Given the description of an element on the screen output the (x, y) to click on. 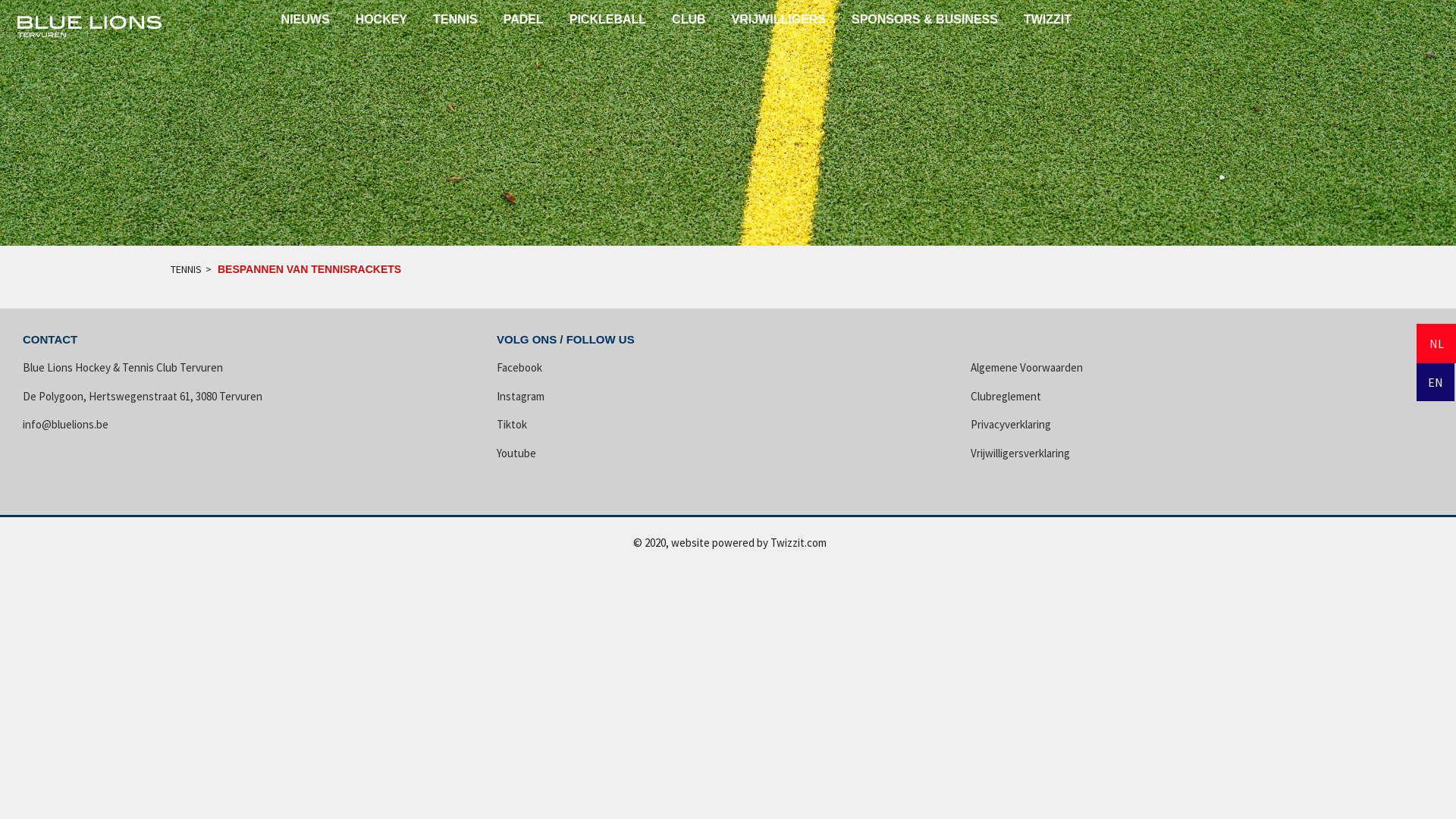
Twizzit.com Element type: text (798, 542)
Vrijwilligersverklaring Element type: text (1020, 452)
Youtube Element type: text (516, 452)
HOCKEY Element type: text (381, 19)
Algemene Voorwaarden Element type: text (1026, 367)
PICKLEBALL Element type: text (607, 19)
TWIZZIT Element type: text (1047, 19)
VRIJWILLIGERS Element type: text (778, 19)
NIEUWS Element type: text (305, 19)
TENNIS Element type: text (455, 19)
Tiktok Element type: text (511, 424)
Facebook Element type: text (519, 367)
SPONSORS & BUSINESS Element type: text (924, 19)
  Element type: text (90, 26)
PADEL Element type: text (523, 19)
Privacyverklaring Element type: text (1010, 424)
EN Element type: text (1435, 381)
BESPANNEN VAN TENNISRACKETS Element type: text (309, 269)
Clubreglement Element type: text (1005, 395)
Instagram Element type: text (520, 395)
TENNIS Element type: text (185, 269)
info@bluelions.be Element type: text (65, 424)
CLUB Element type: text (688, 19)
